Given the description of an element on the screen output the (x, y) to click on. 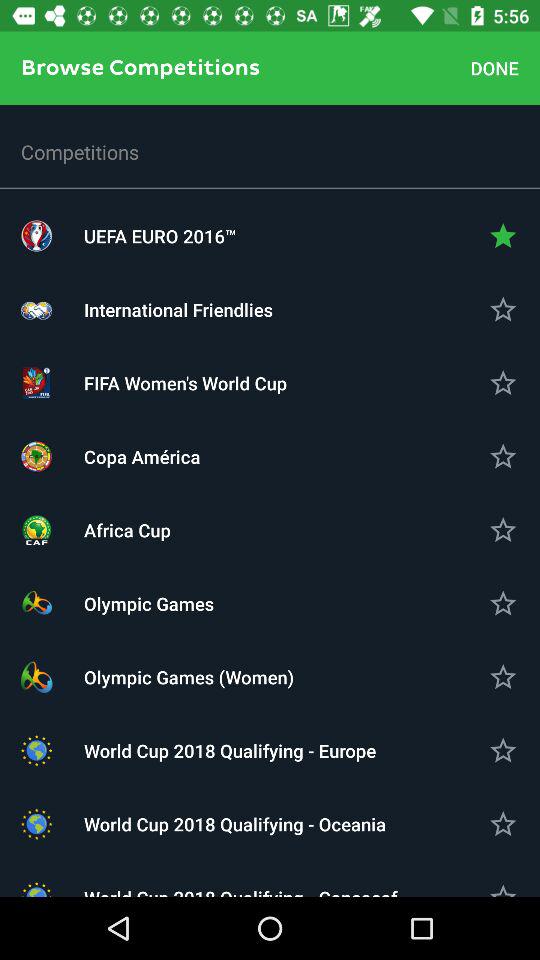
press the fifa women s icon (270, 382)
